Given the description of an element on the screen output the (x, y) to click on. 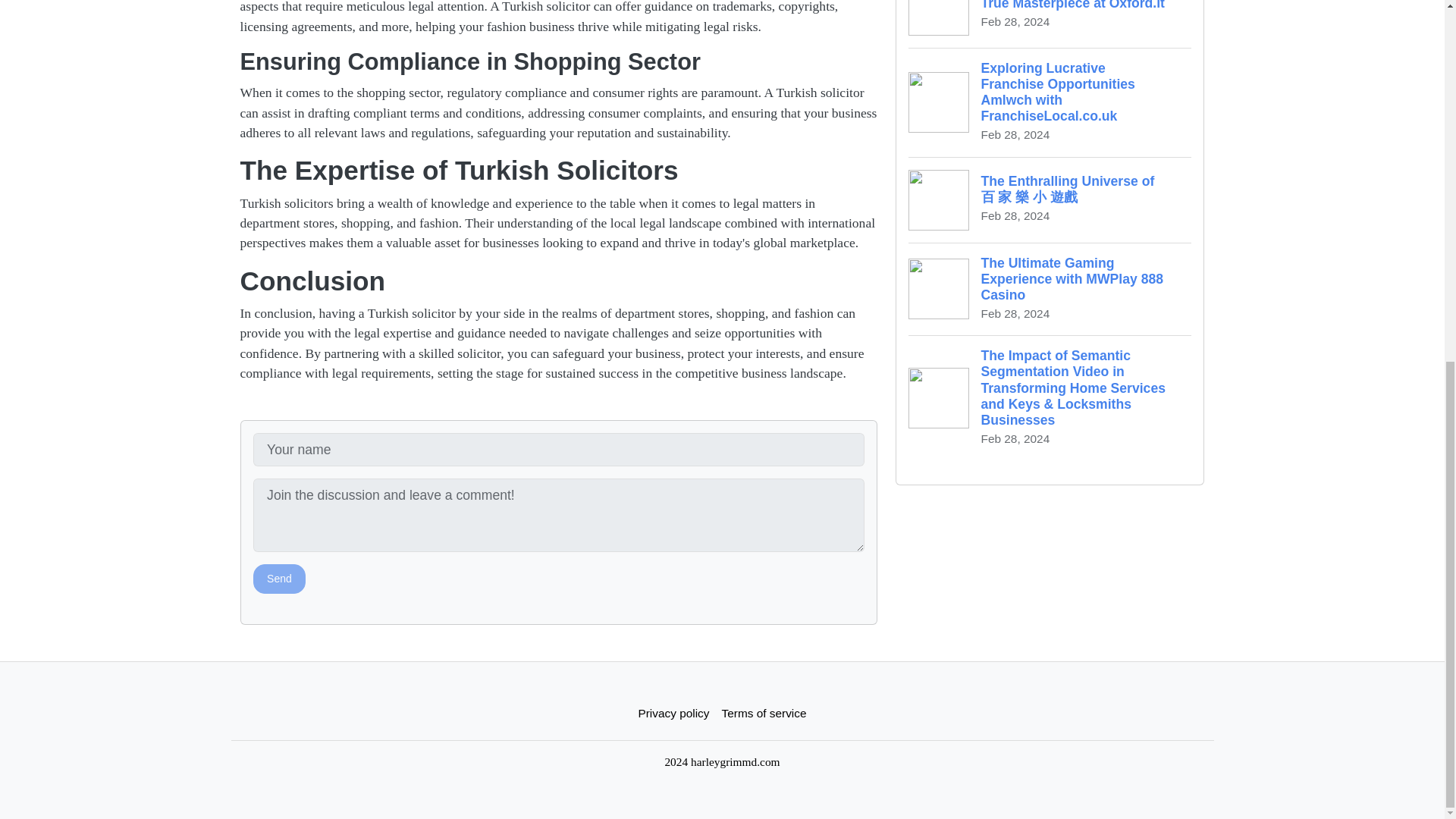
Send (279, 578)
Send (279, 578)
Privacy policy (672, 713)
Terms of service (764, 713)
